Given the description of an element on the screen output the (x, y) to click on. 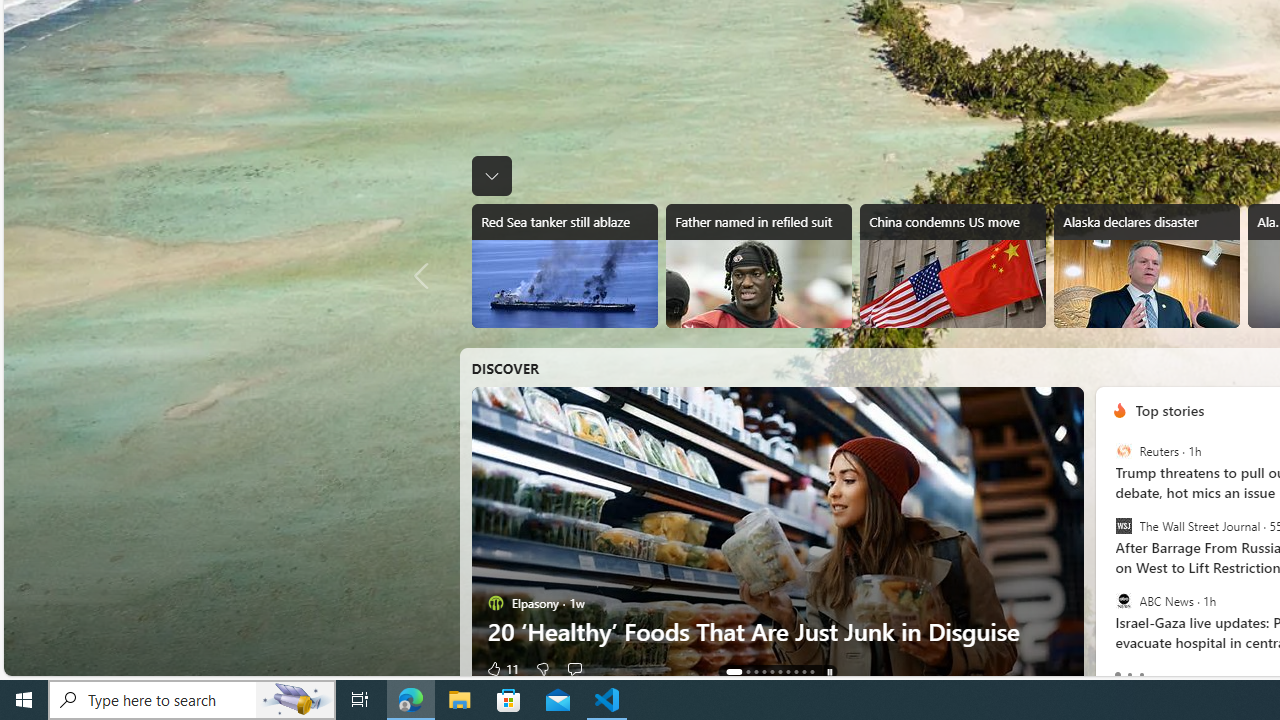
AutomationID: tab-1 (742, 671)
ABC News (1122, 600)
View comments 34 Comment (573, 668)
Father named in refiled suit (758, 265)
AutomationID: tab-0 (728, 671)
AutomationID: tab-3 (764, 671)
AutomationID: tab-2 (756, 671)
AutomationID: tab-9 (811, 671)
AutomationID: tab-5 (779, 671)
The taskbar was expanded. Press to collapse taskbar (491, 175)
China condemns US move (951, 265)
85 Like (502, 668)
